Given the description of an element on the screen output the (x, y) to click on. 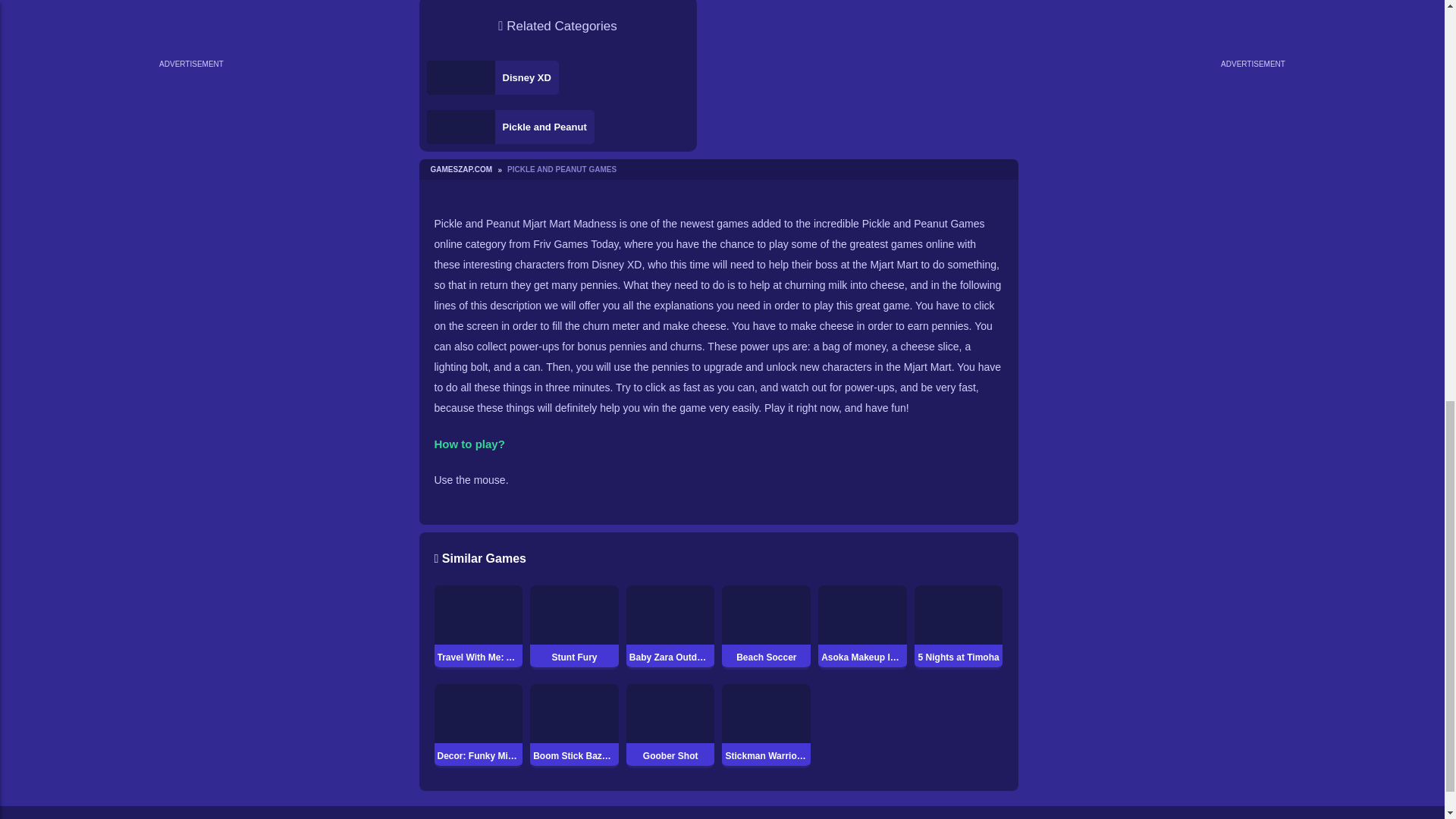
Disney XD (491, 77)
GAMESZAP.COM (465, 169)
Pickle and Peanut (510, 126)
